Given the description of an element on the screen output the (x, y) to click on. 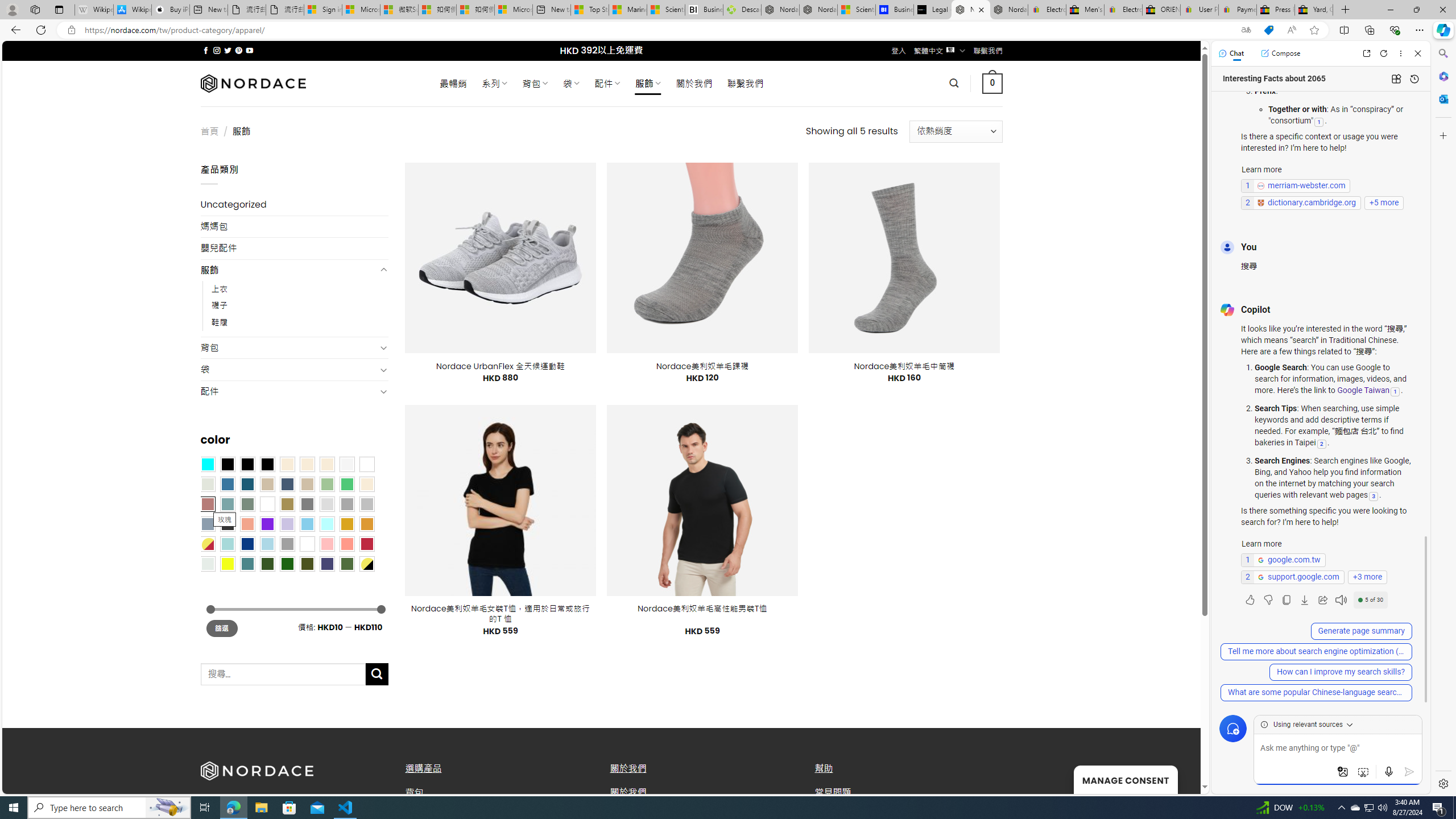
Minimize Search pane (1442, 53)
Follow on Twitter (227, 50)
Cream (327, 464)
